Given the description of an element on the screen output the (x, y) to click on. 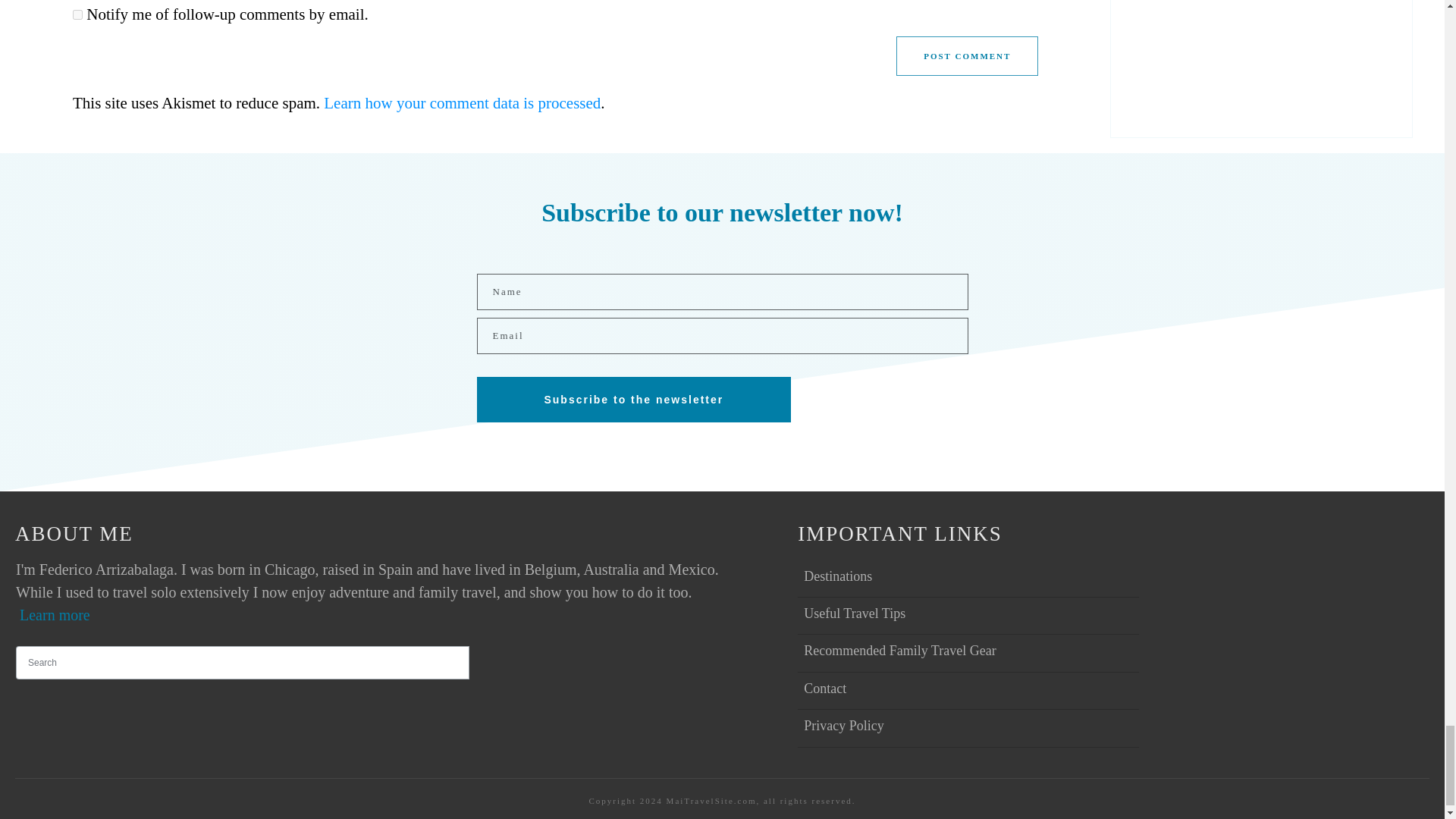
subscribe (77, 14)
